Given the description of an element on the screen output the (x, y) to click on. 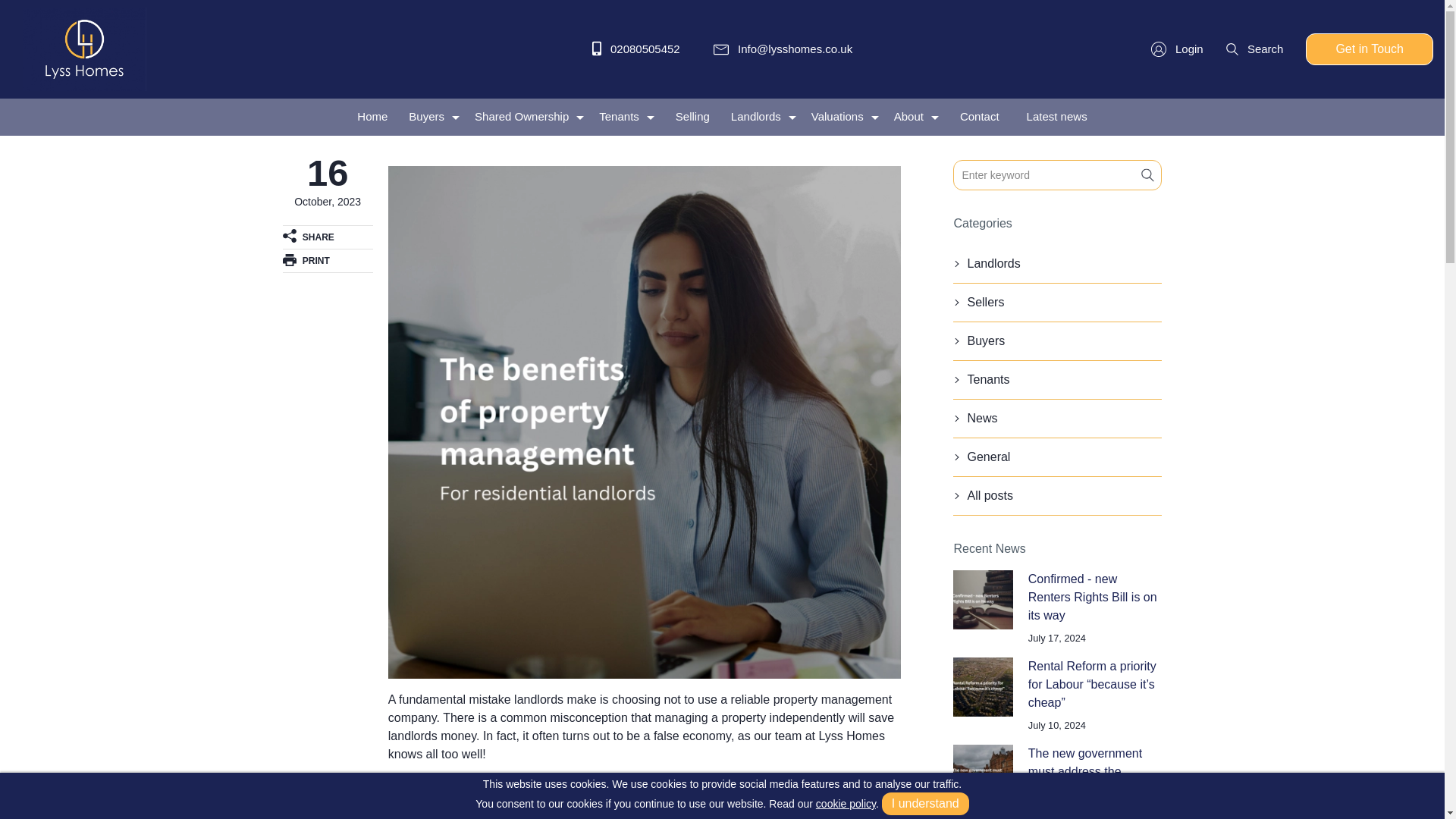
Home (371, 116)
News (1057, 417)
General (1057, 456)
Sellers (1057, 302)
SHARE (327, 237)
Login (1177, 48)
PRINT (327, 259)
Selling (692, 116)
Landlords (1057, 262)
Tenants (1057, 379)
Contact (979, 116)
02080505452 (635, 48)
Get in Touch (1369, 49)
